Given the description of an element on the screen output the (x, y) to click on. 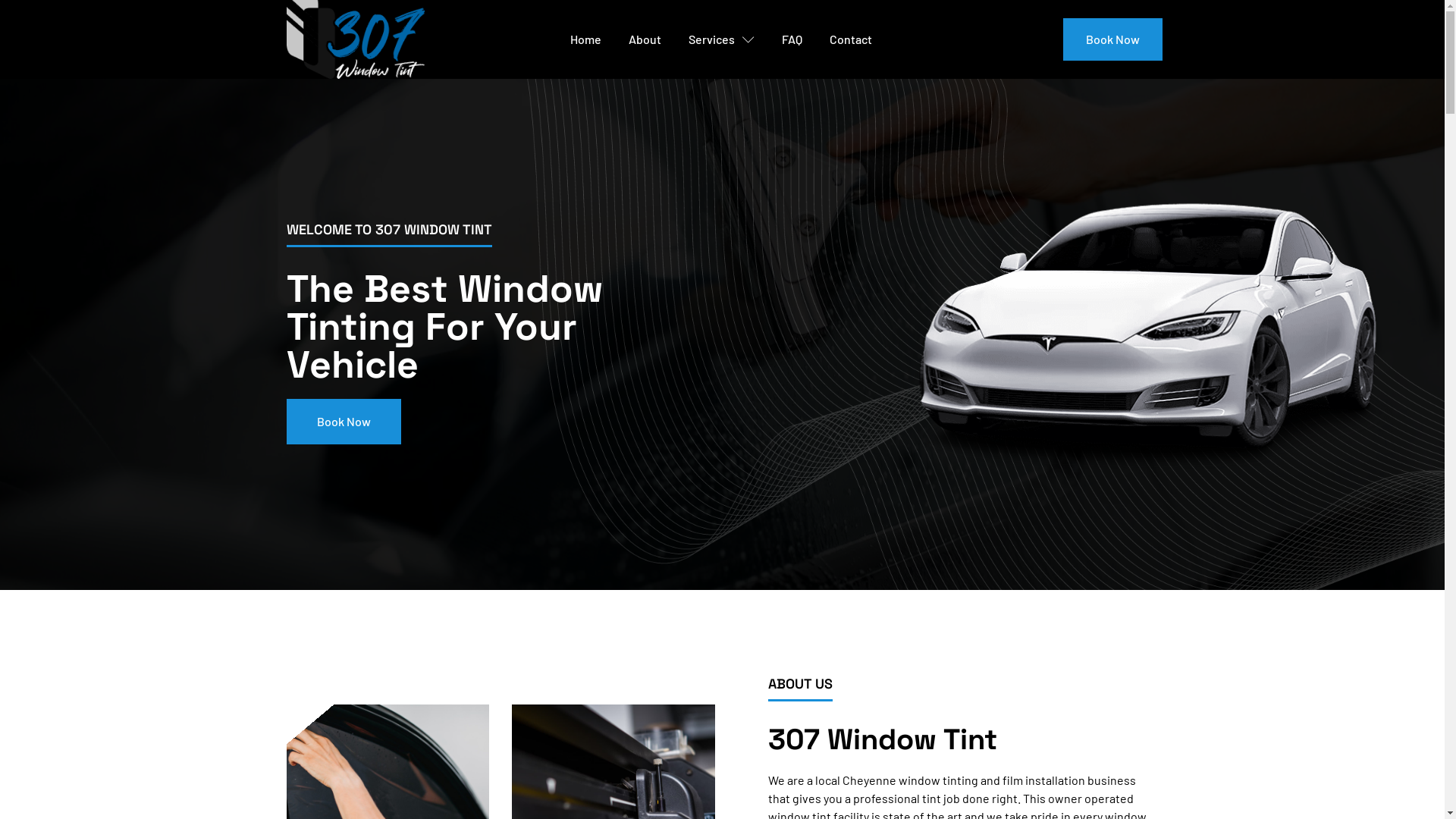
Services Element type: text (721, 39)
Book Now Element type: text (343, 421)
About Element type: text (644, 39)
FAQ Element type: text (791, 39)
Contact Element type: text (850, 39)
Home Element type: text (585, 39)
Book Now Element type: text (1112, 39)
